Given the description of an element on the screen output the (x, y) to click on. 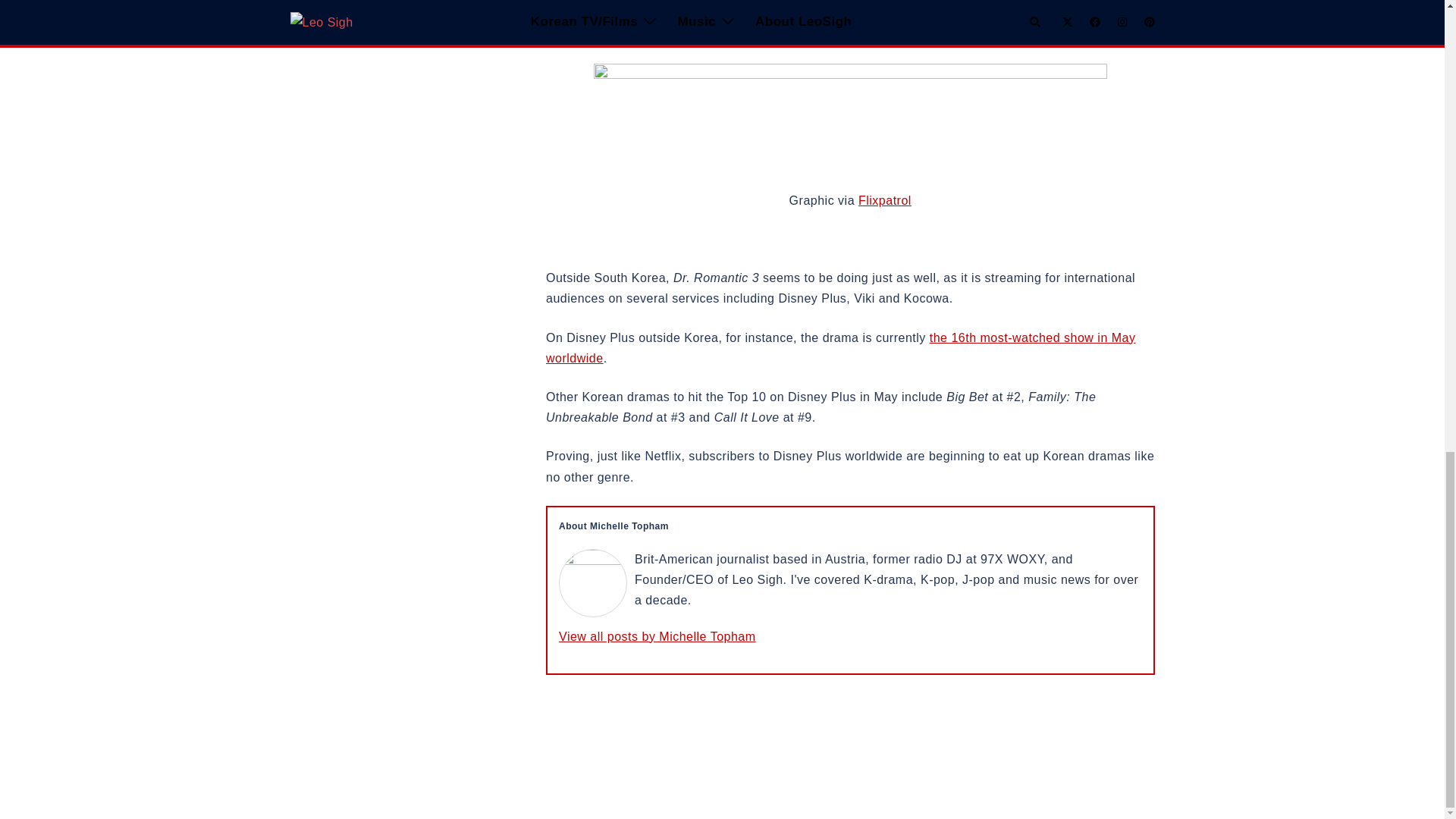
View all posts by Michelle Topham (657, 635)
Flixpatrol (885, 200)
the 16th most-watched show in May worldwide (840, 347)
